Given the description of an element on the screen output the (x, y) to click on. 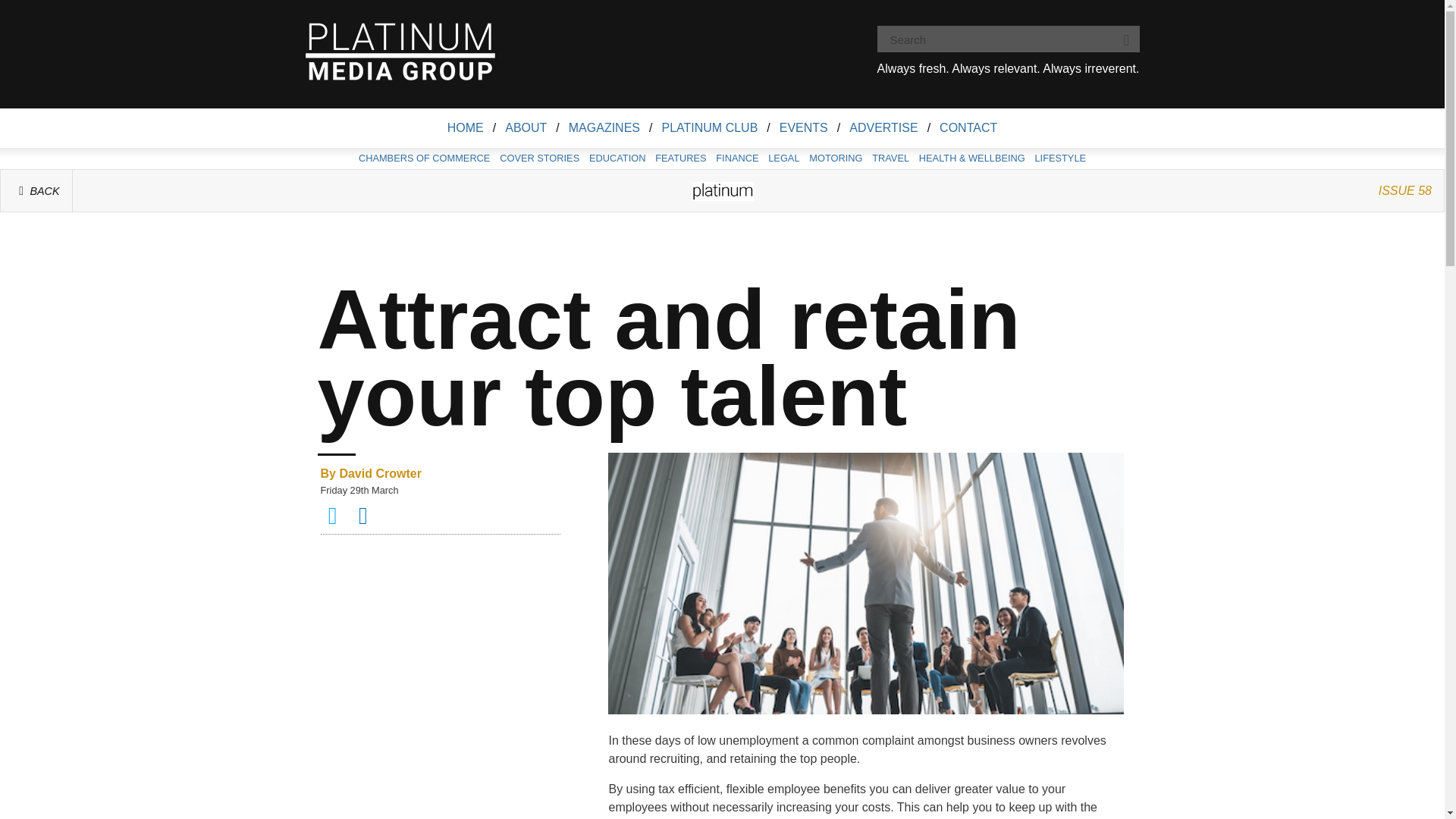
HOME (465, 127)
MAGAZINES (604, 127)
TRAVEL (890, 157)
EVENTS (803, 127)
LIFESTYLE (1059, 157)
By David Crowter (439, 474)
FEATURES (680, 157)
LinkedIn (364, 519)
EDUCATION (617, 157)
MOTORING (836, 157)
LEGAL (783, 157)
FINANCE (736, 157)
ISSUE 58 (1405, 190)
CHAMBERS OF COMMERCE (424, 157)
ABOUT (526, 127)
